Given the description of an element on the screen output the (x, y) to click on. 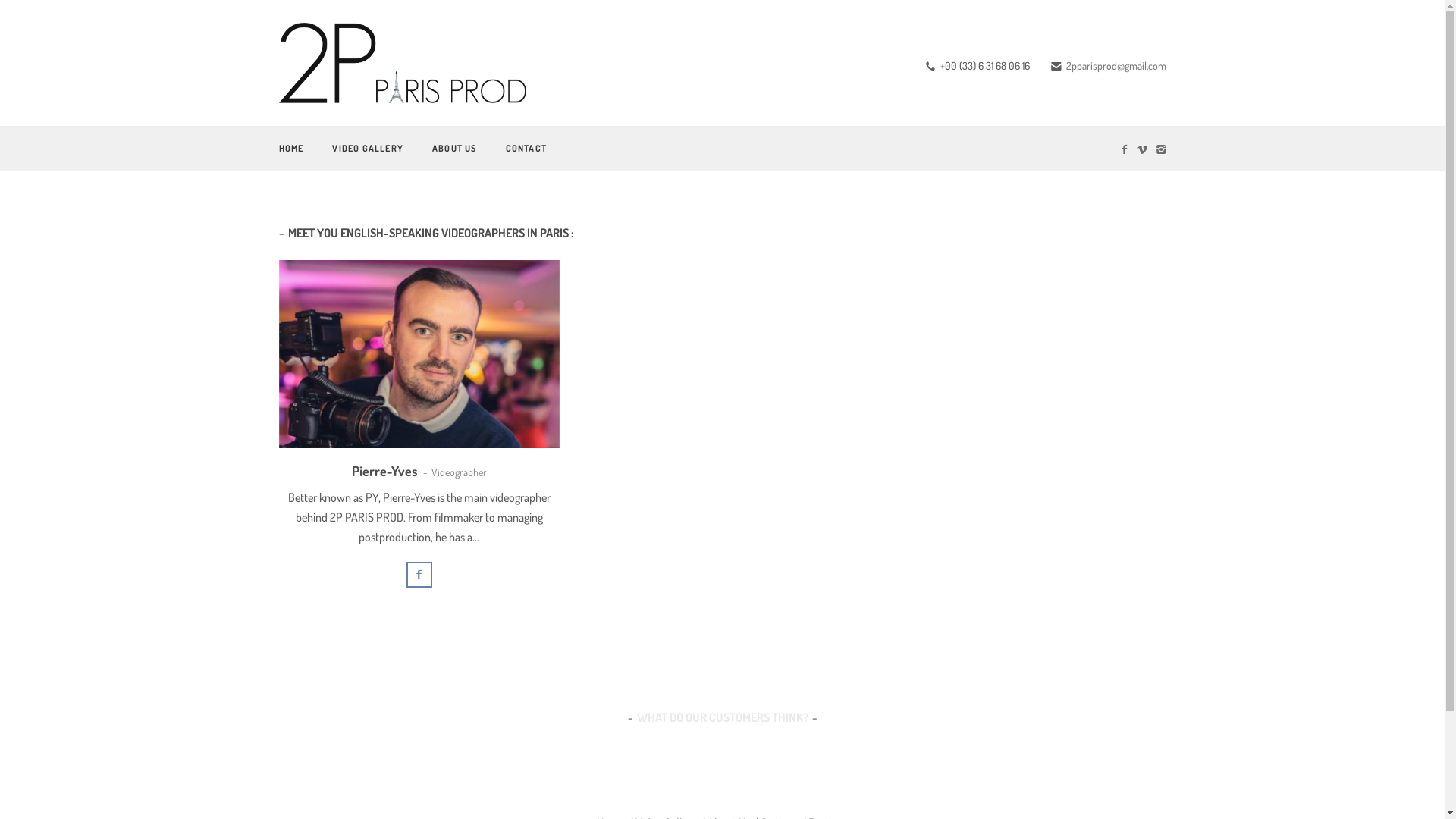
HOME Element type: text (291, 148)
CONTACT Element type: text (525, 148)
VIDEO GALLERY Element type: text (367, 148)
2pparisprod@gmail.com Element type: text (1116, 65)
ABOUT US Element type: text (454, 148)
Pierre-Yves Element type: text (384, 470)
